Given the description of an element on the screen output the (x, y) to click on. 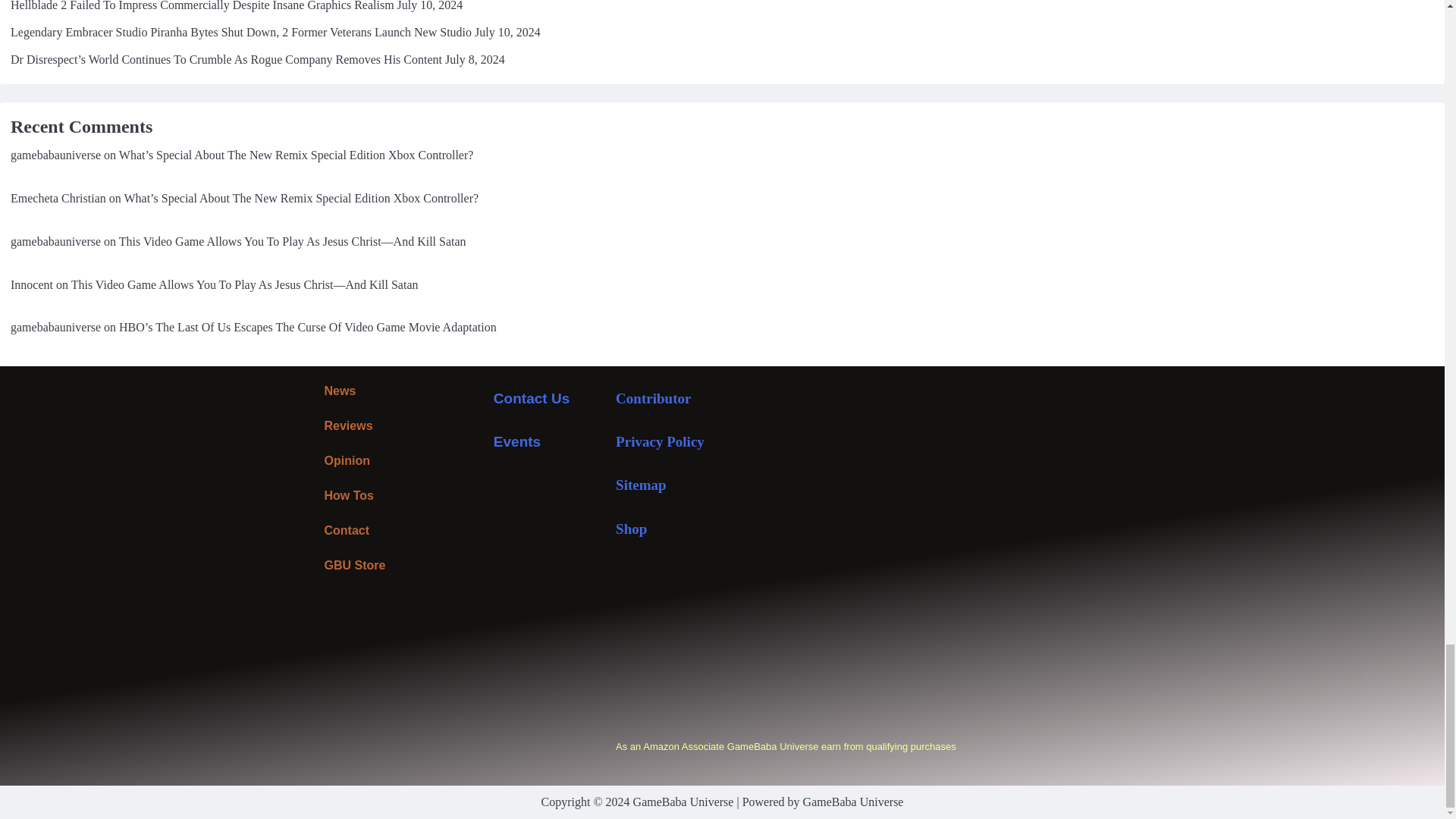
Emecheta Christian (58, 197)
gamebabauniverse (55, 241)
gamebabauniverse (55, 327)
gamebabauniverse (55, 154)
